Given the description of an element on the screen output the (x, y) to click on. 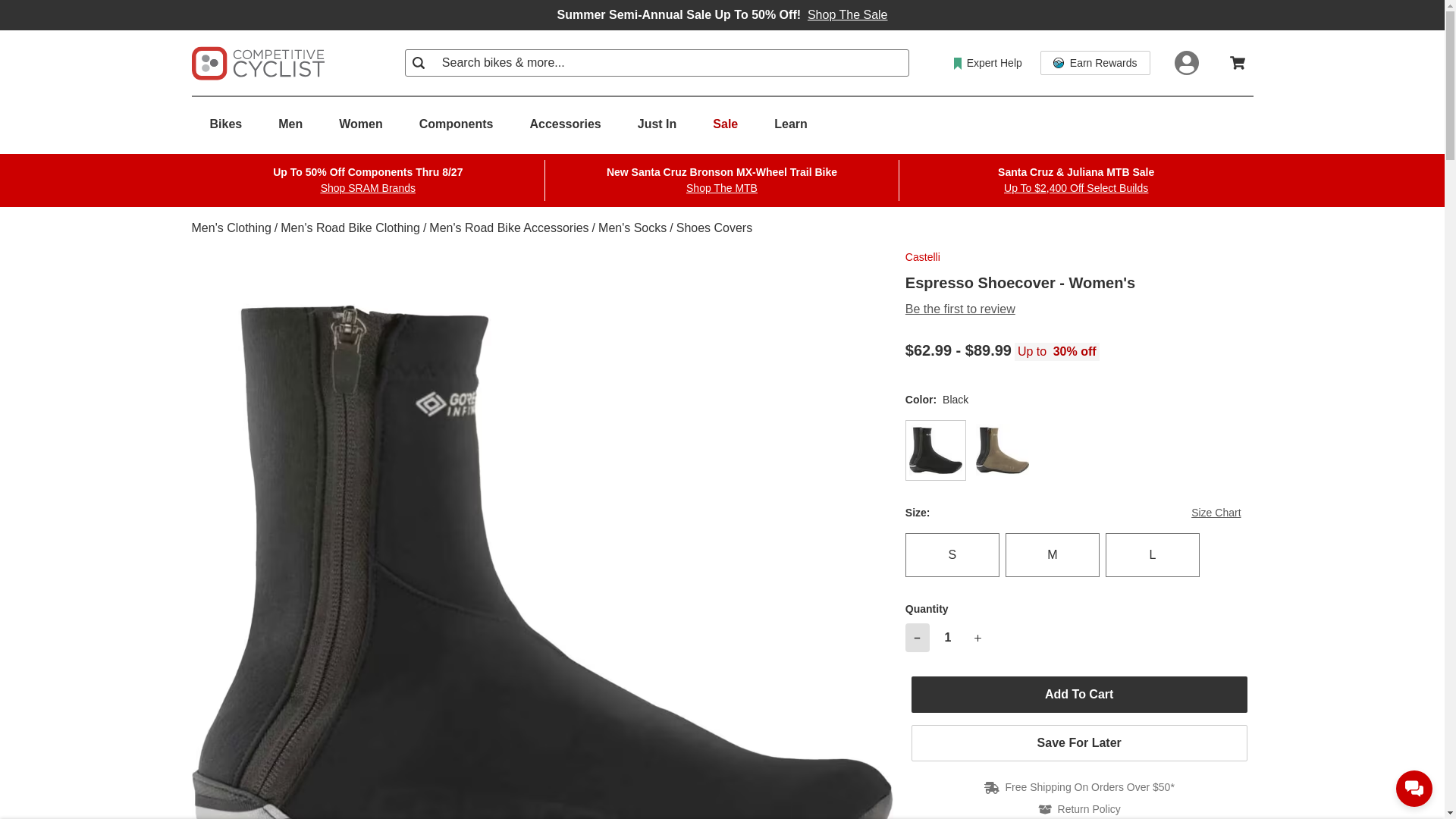
1 (947, 637)
Cart, Contains 0 Items (1237, 62)
Home Page (256, 62)
Bikes (225, 124)
Earn Rewards (1095, 62)
